Given the description of an element on the screen output the (x, y) to click on. 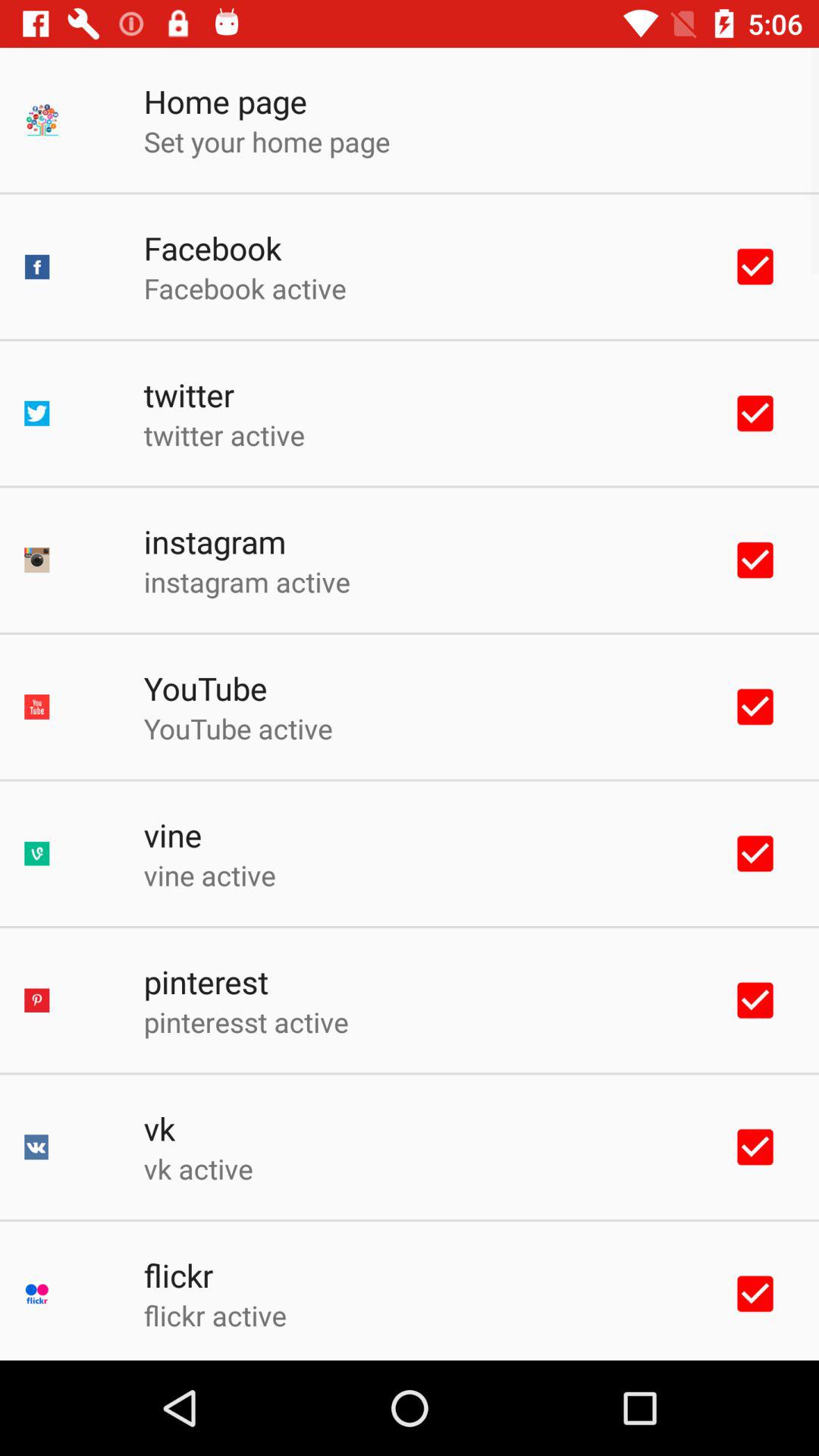
press item above the instagram icon (223, 434)
